Given the description of an element on the screen output the (x, y) to click on. 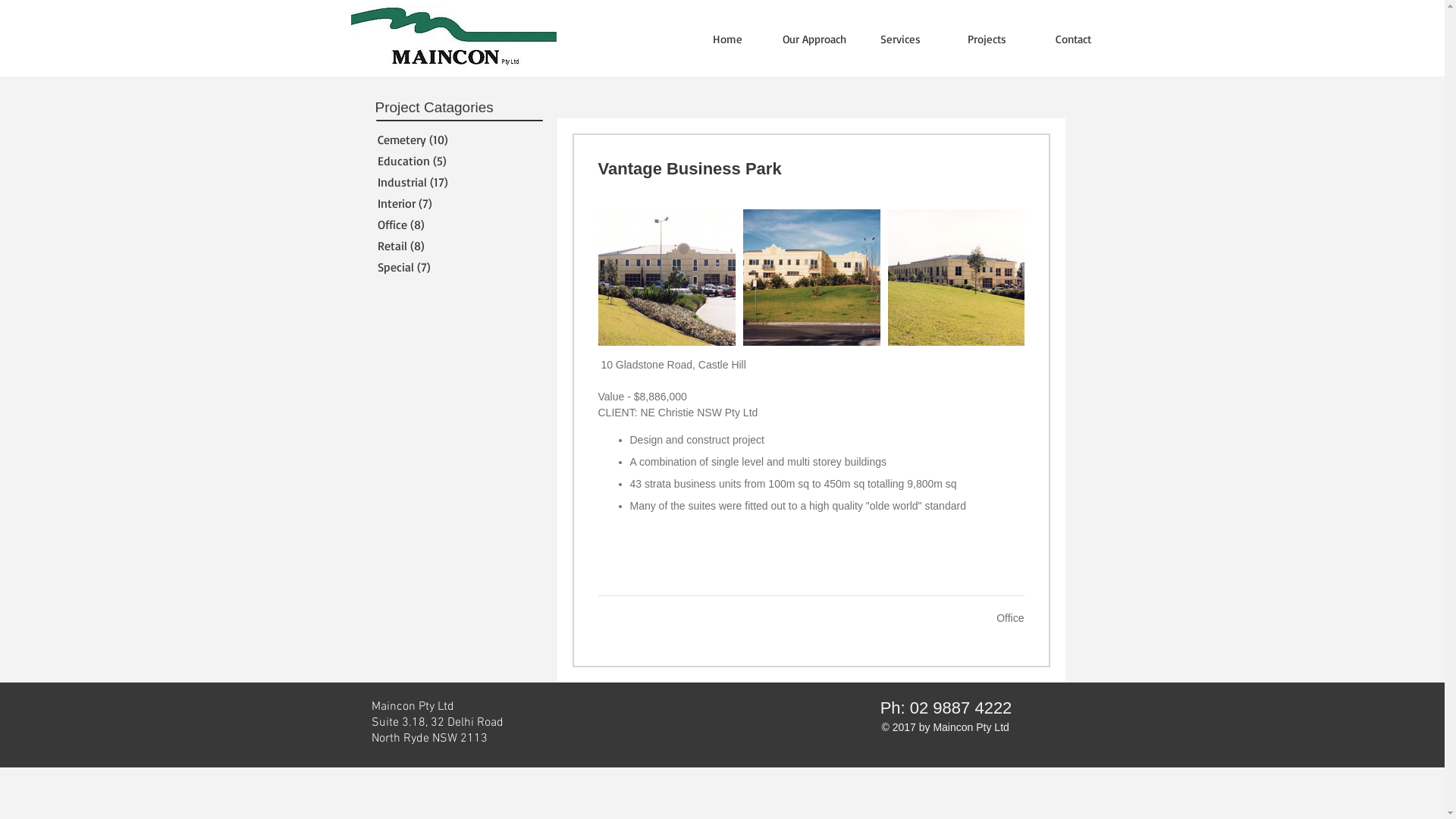
Home Element type: text (727, 38)
Office (8) Element type: text (453, 224)
Retail (8) Element type: text (453, 245)
Cemetery (10) Element type: text (453, 139)
Industrial (17) Element type: text (453, 181)
Contact Element type: text (1072, 38)
Education (5) Element type: text (453, 160)
Services Element type: text (899, 38)
Office Element type: text (1009, 617)
Special (7) Element type: text (453, 266)
Projects Element type: text (986, 38)
Interior (7) Element type: text (453, 202)
Our Approach Element type: text (813, 38)
